Given the description of an element on the screen output the (x, y) to click on. 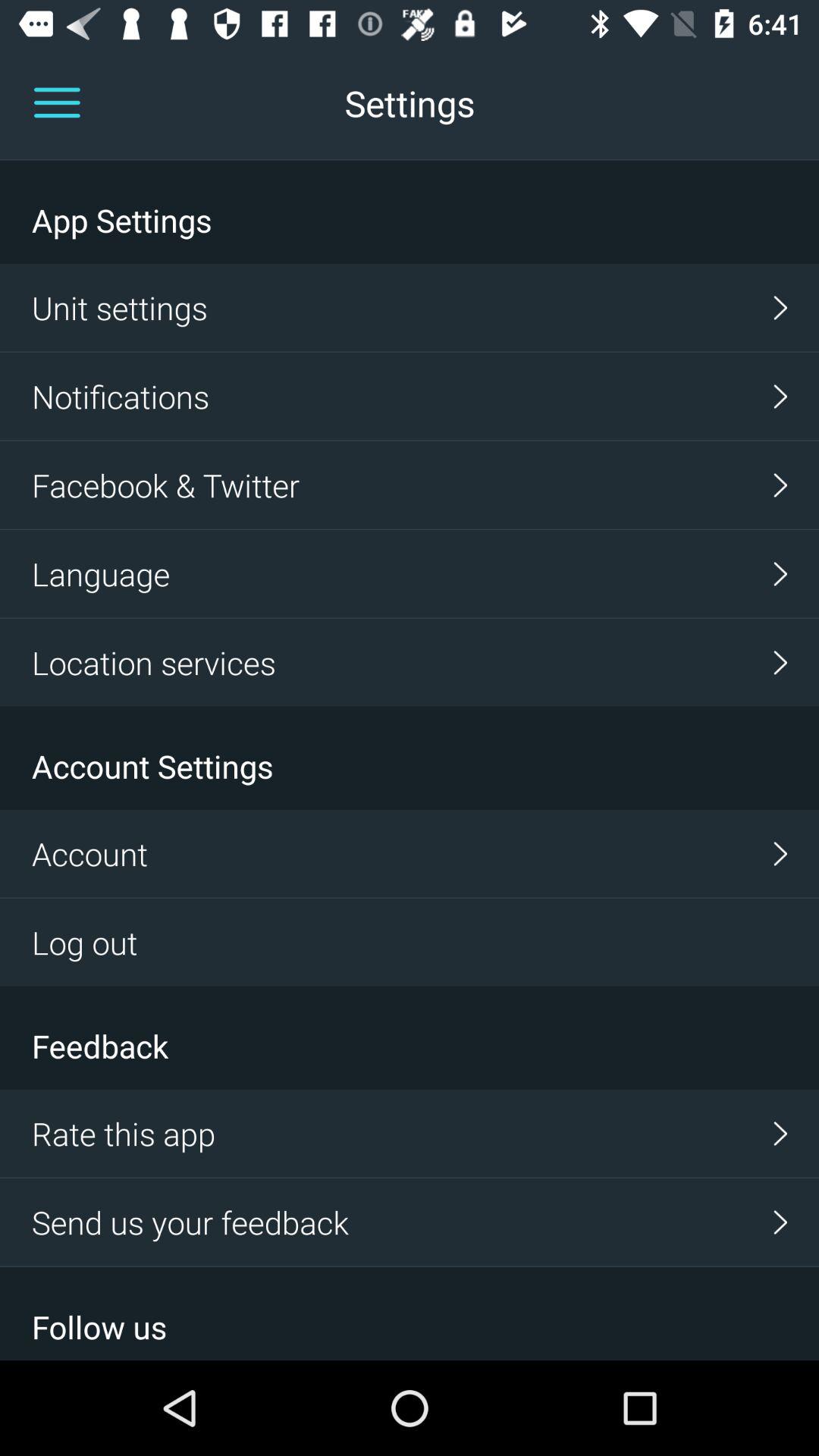
go to menu (57, 103)
